Given the description of an element on the screen output the (x, y) to click on. 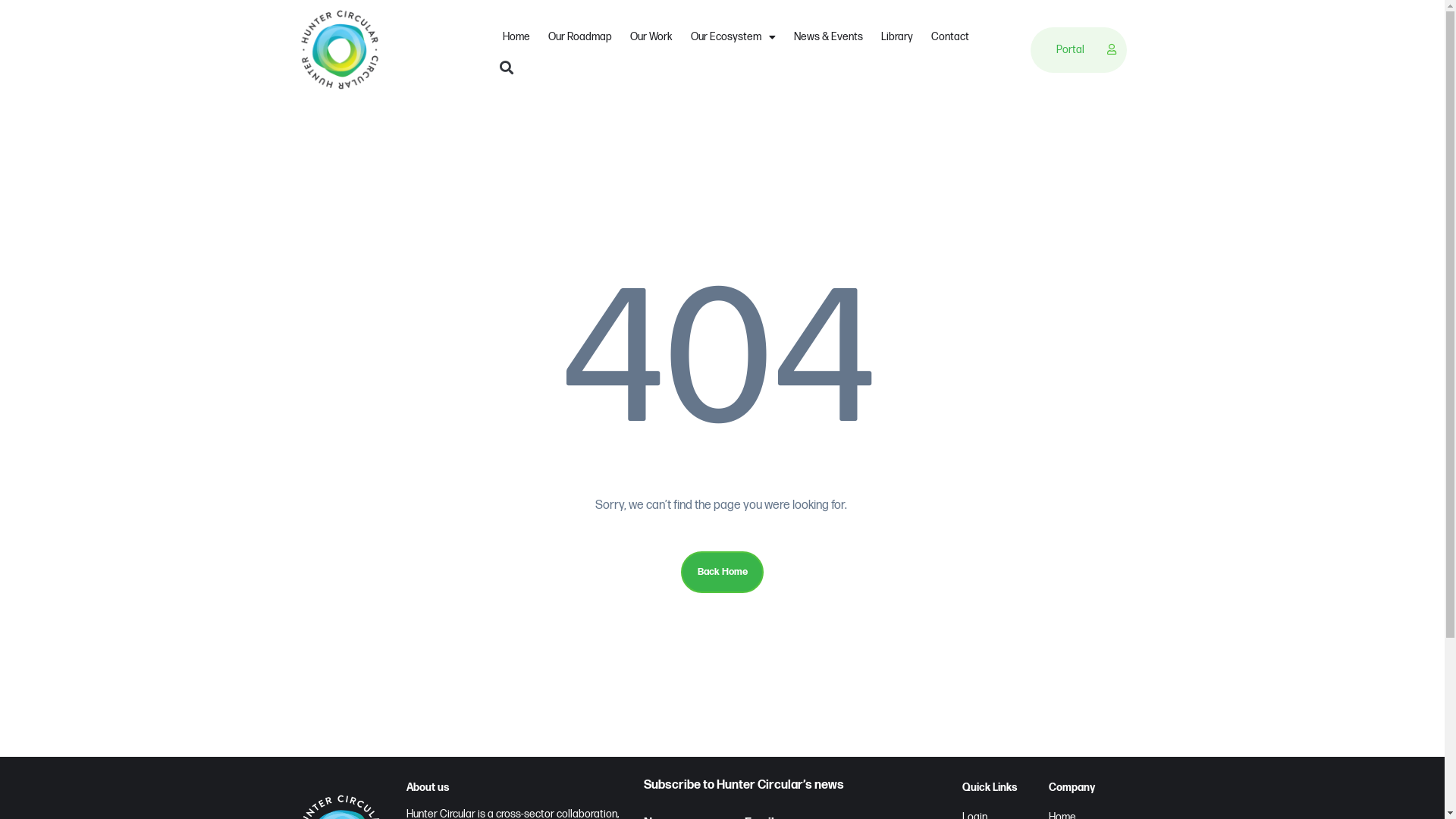
Home Element type: text (516, 36)
Back Home Element type: text (721, 571)
Contact Element type: text (950, 36)
Our Work Element type: text (651, 36)
Portal Element type: text (1074, 48)
Our Ecosystem Element type: text (732, 36)
Library Element type: text (897, 36)
News & Events Element type: text (828, 36)
Our Roadmap Element type: text (580, 36)
